Given the description of an element on the screen output the (x, y) to click on. 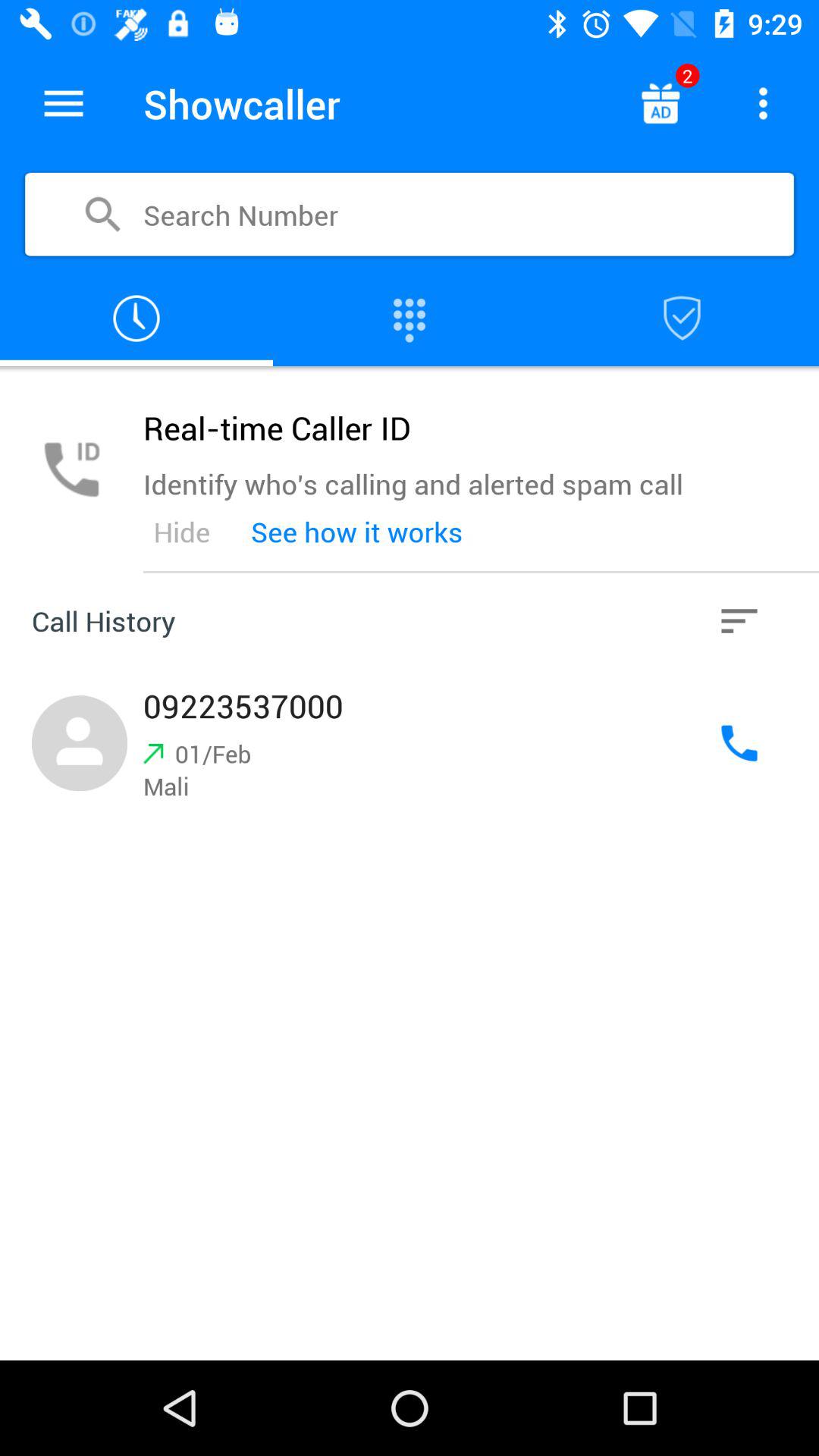
launch item to the right of hide icon (356, 531)
